Given the description of an element on the screen output the (x, y) to click on. 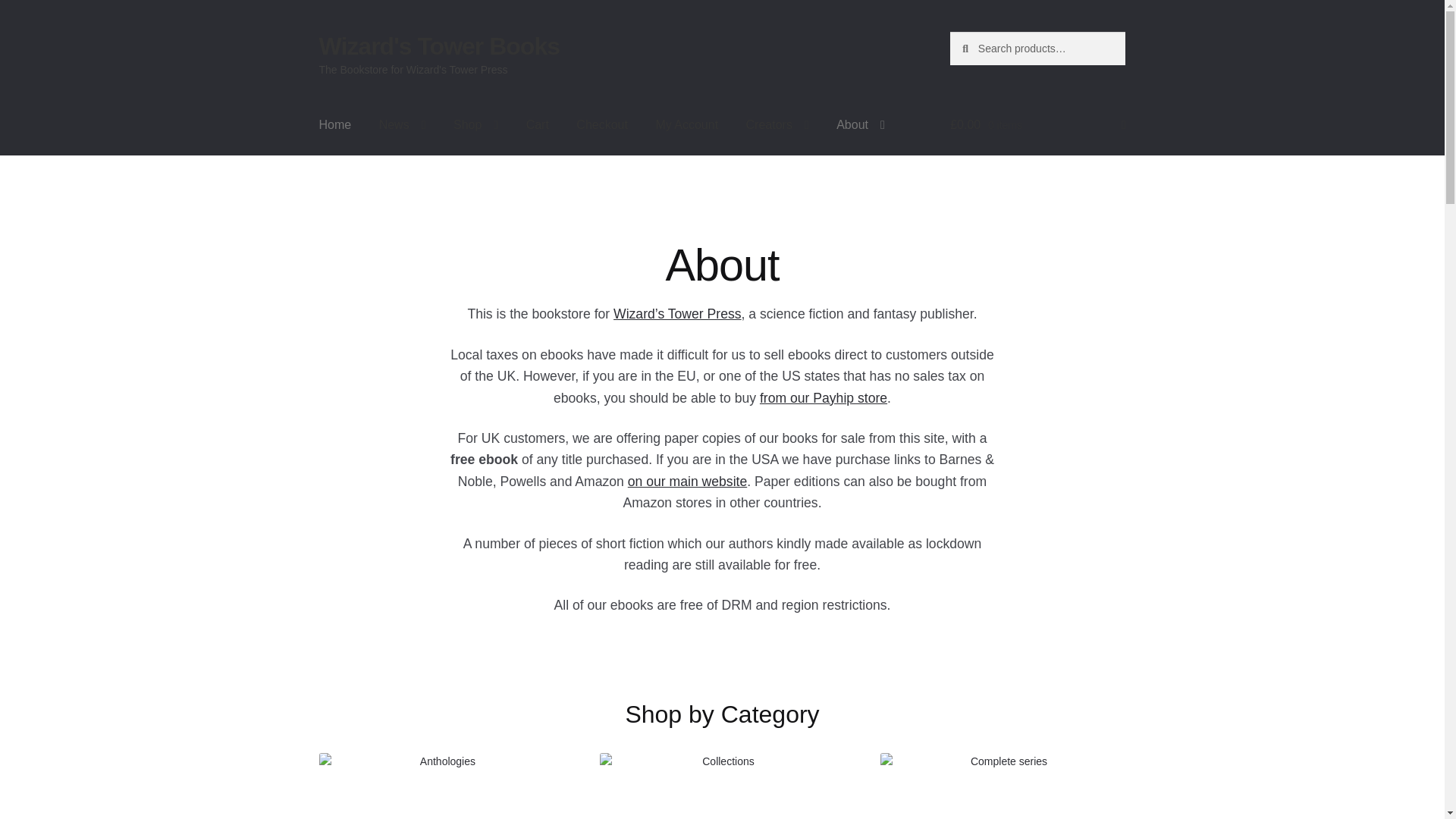
Home (335, 124)
News (402, 124)
My Account (686, 124)
Creators (777, 124)
View your shopping cart (1037, 124)
Checkout (602, 124)
Wizard's Tower Books (438, 45)
Shop (476, 124)
